Given the description of an element on the screen output the (x, y) to click on. 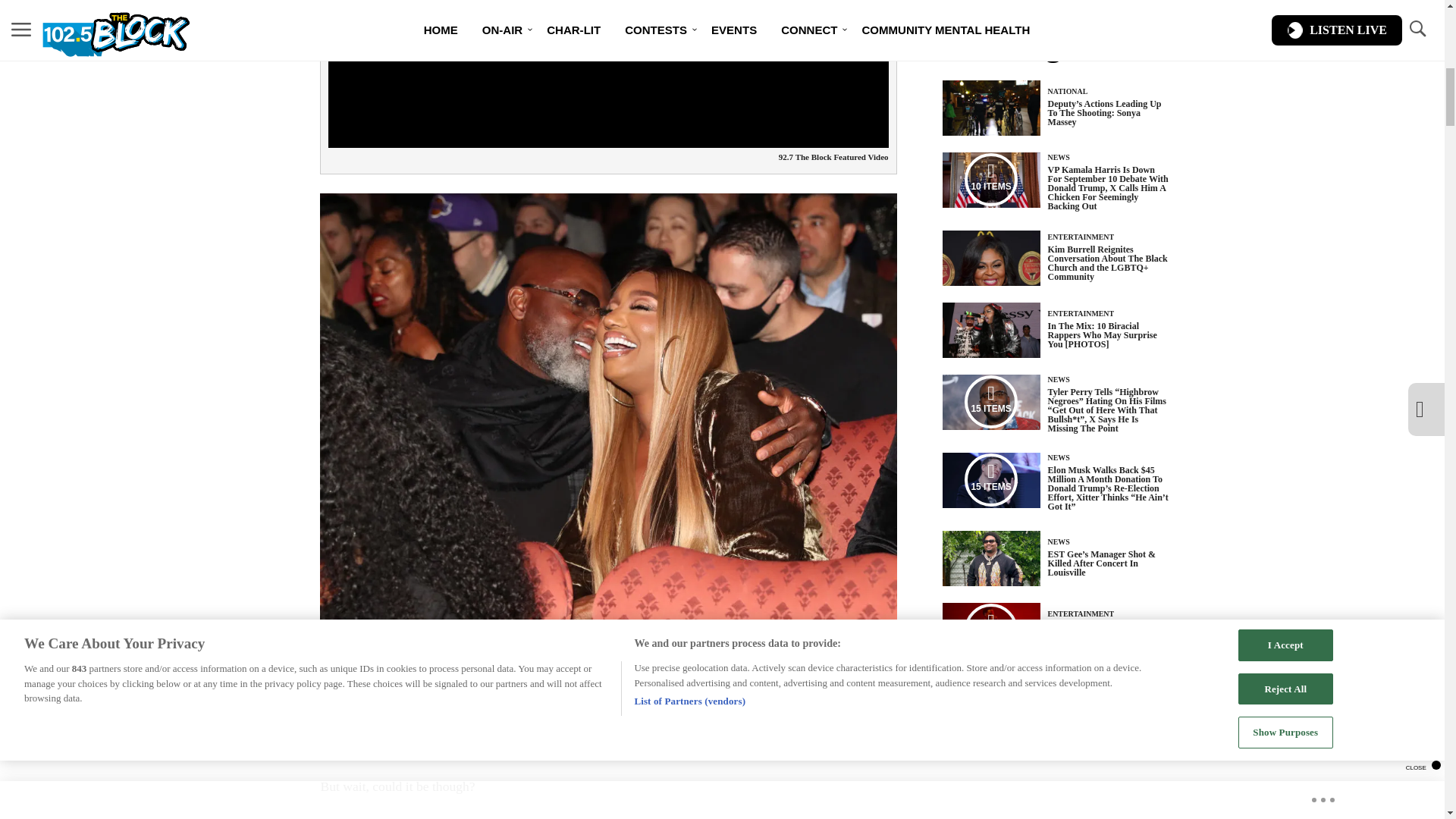
Media Playlist (990, 479)
Media Playlist (990, 179)
Media Playlist (990, 629)
Media Playlist (990, 401)
